Given the description of an element on the screen output the (x, y) to click on. 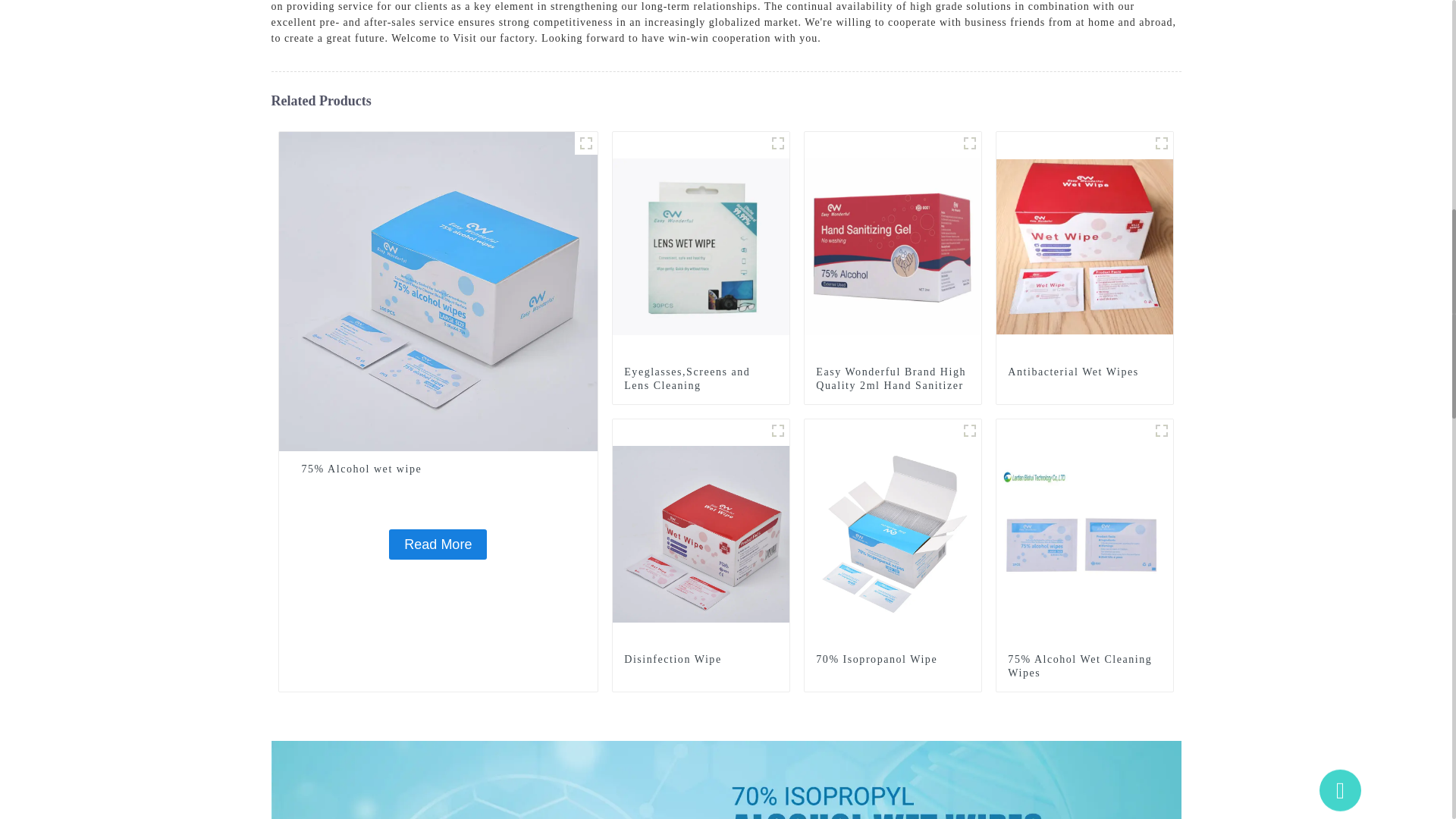
Eyeglasses,Screens and Lens Cleaning (700, 379)
Antibacterial Wet Wipes (1084, 245)
Eyeglasses,Screens and Lens Cleaning (700, 379)
111 (969, 142)
Disinfection Wipe (700, 532)
productimg3 (1161, 142)
Eyeglasses,Screens and Lens Cleaning (700, 245)
Antibacterial Wet Wipes (1084, 372)
Read More (437, 544)
Antibacterial Wet Wipes (1084, 372)
